Given the description of an element on the screen output the (x, y) to click on. 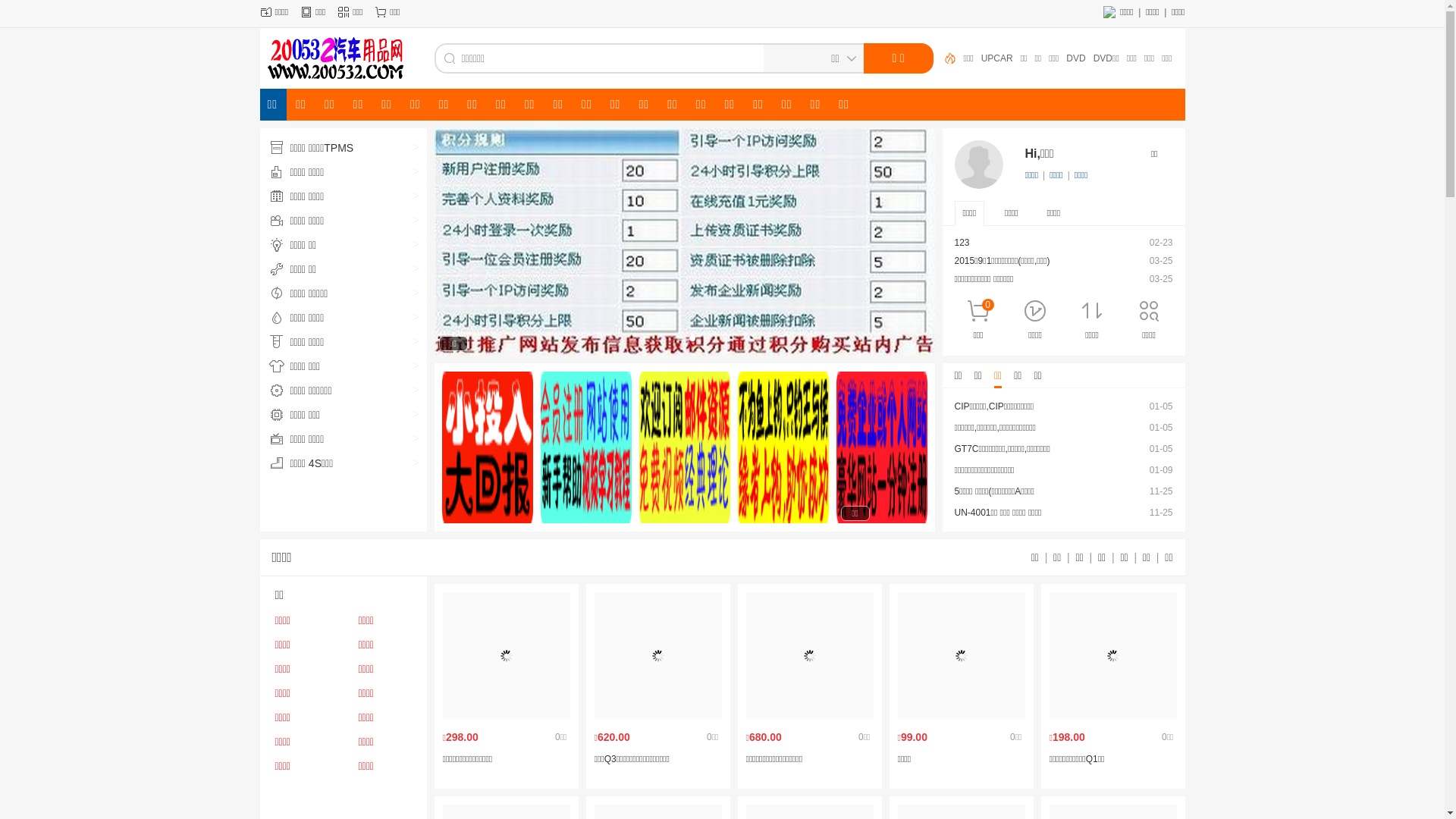
UPCAR Element type: text (1028, 58)
DVD Element type: text (1107, 58)
